Given the description of an element on the screen output the (x, y) to click on. 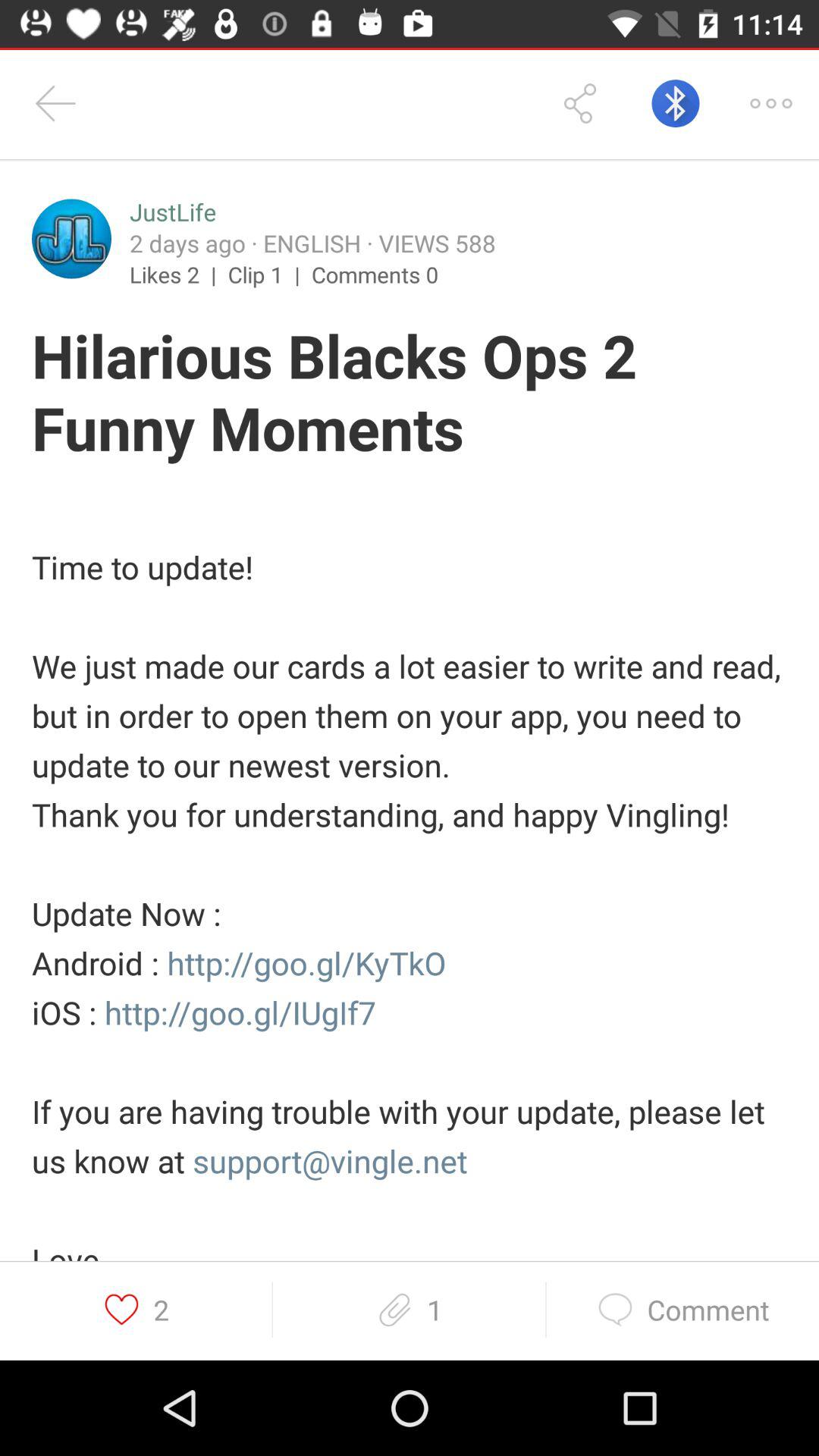
turn on icon above hilarious blacks ops icon (71, 238)
